Given the description of an element on the screen output the (x, y) to click on. 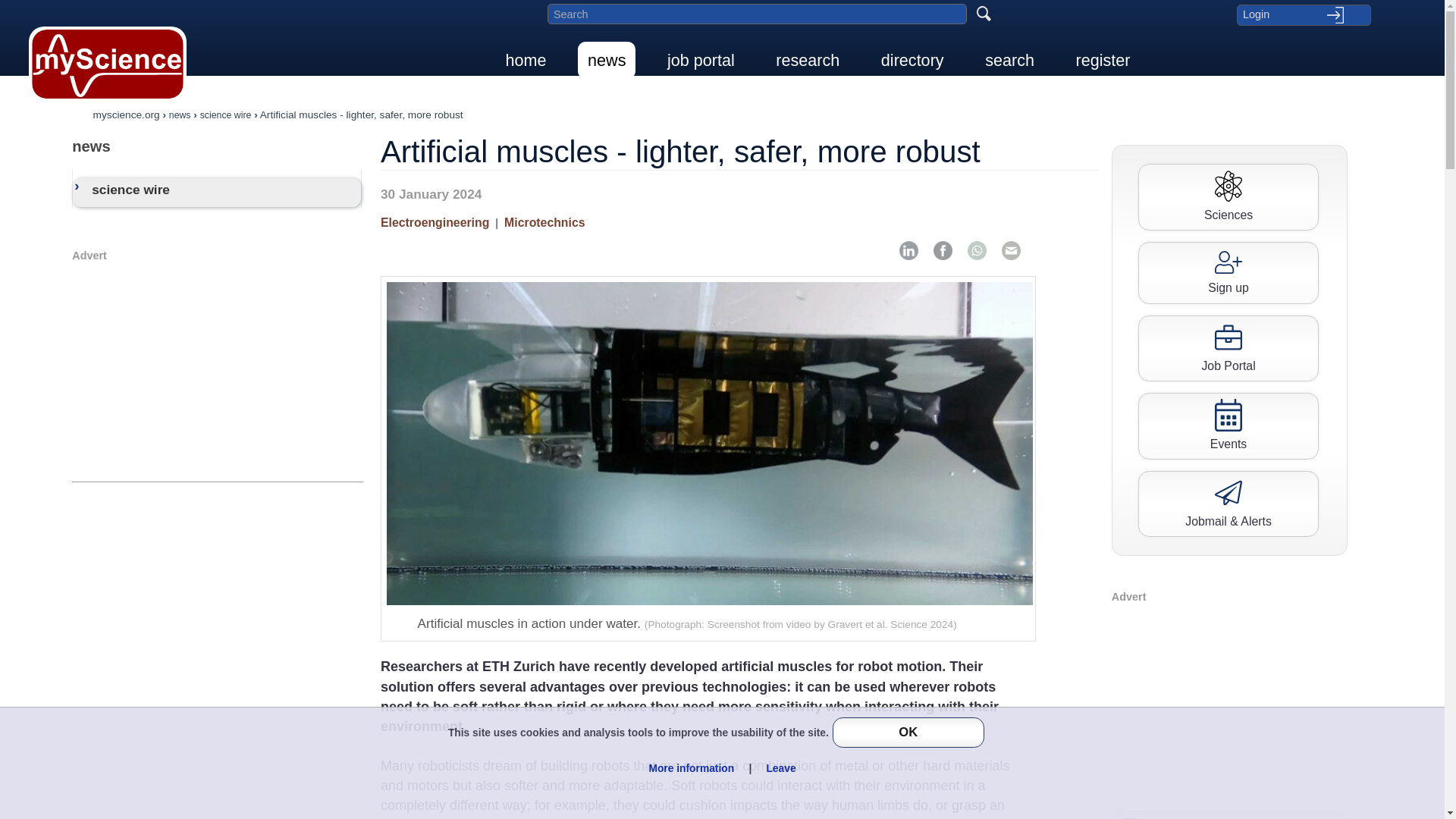
research (806, 59)
Advertisement (216, 369)
Search Job Offers (1227, 348)
Login (1303, 14)
news (606, 59)
Share on Facebook (942, 250)
Share on LinkedIn (909, 250)
myScience Home (107, 63)
Share on WhatsApp Web (977, 250)
 news  (216, 145)
job portal (701, 59)
home (526, 59)
directory (911, 59)
Search in myscience.org (756, 14)
Send by Email (1011, 250)
